Given the description of an element on the screen output the (x, y) to click on. 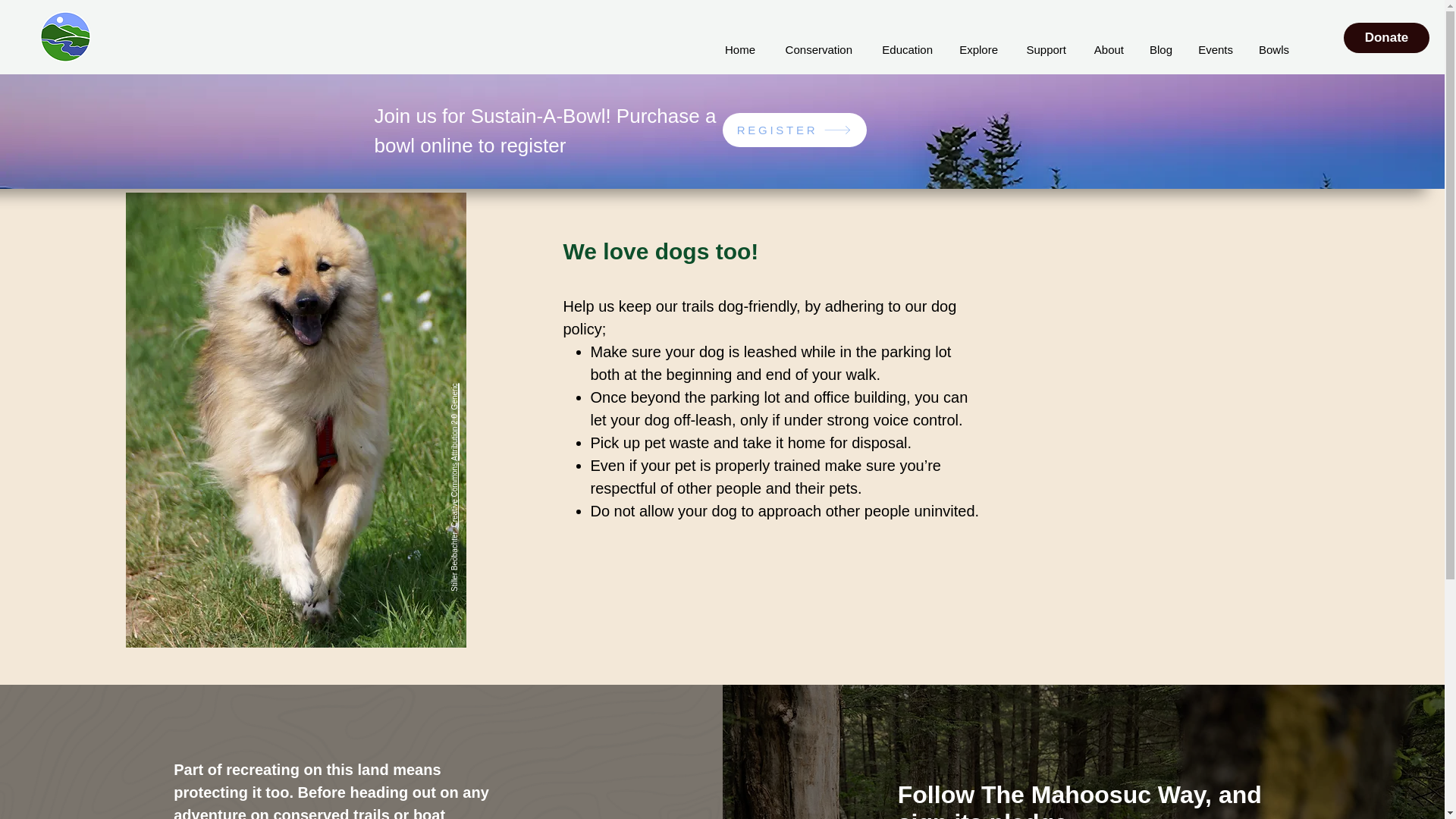
REGISTER (794, 130)
Creative Commons (482, 466)
Attribution 2.0 Generic (480, 391)
Conservation (815, 49)
Donate (1386, 37)
20x20 Circle Logo No Text.png (65, 36)
